Given the description of an element on the screen output the (x, y) to click on. 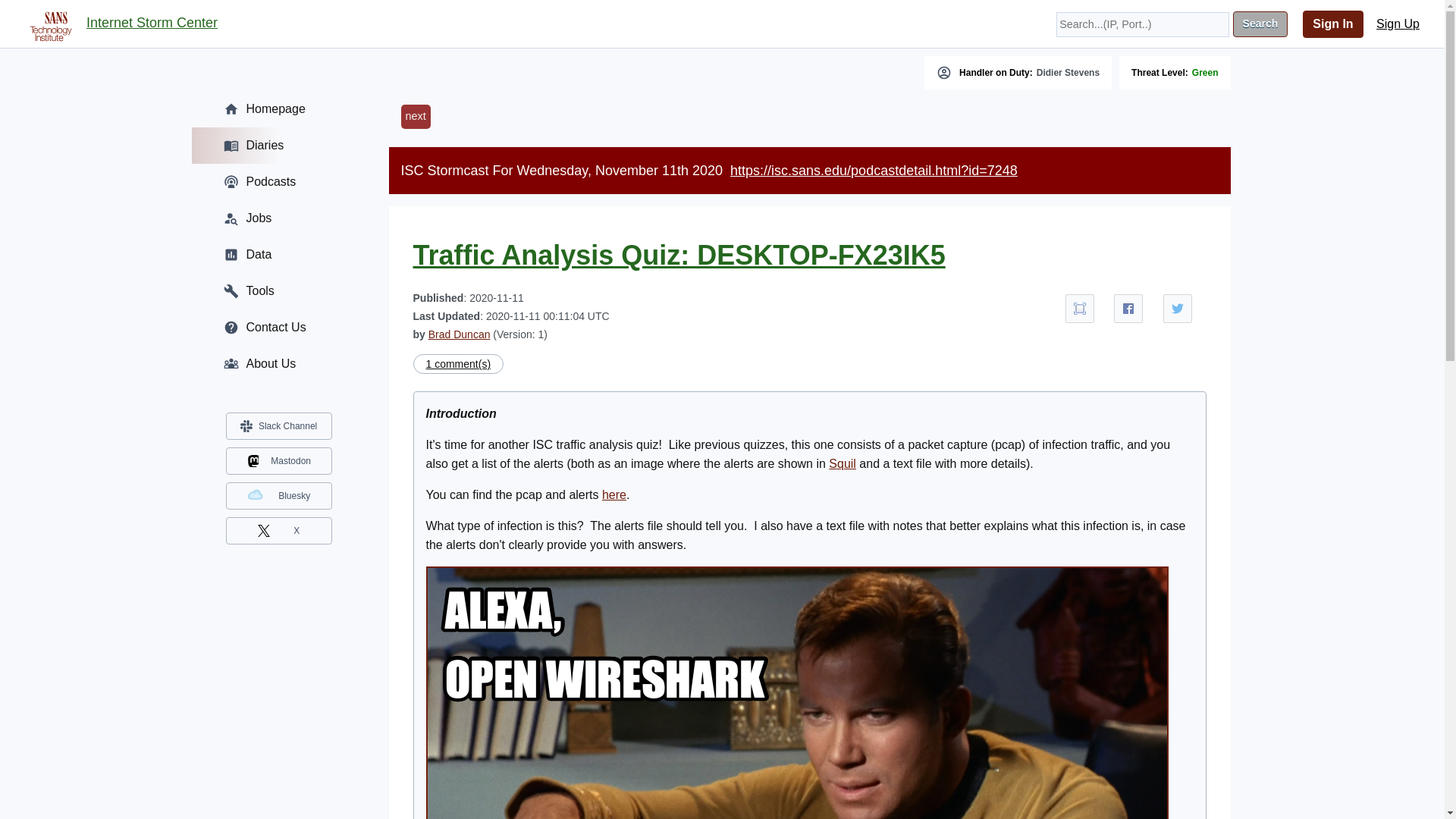
Didier Stevens (1067, 72)
Brad Duncan (459, 334)
Share on Facebook (1127, 308)
Search (1260, 23)
Homepage (277, 108)
Squil (842, 463)
next (414, 116)
Internet Storm Center (150, 23)
Traffic Analysis Quiz: DESKTOP-FX23IK5 (678, 255)
Data (277, 254)
Green (1205, 72)
Share on Twitter (1177, 308)
Jobs (277, 217)
Sign Up (1398, 24)
Didier Stevens (1067, 72)
